Given the description of an element on the screen output the (x, y) to click on. 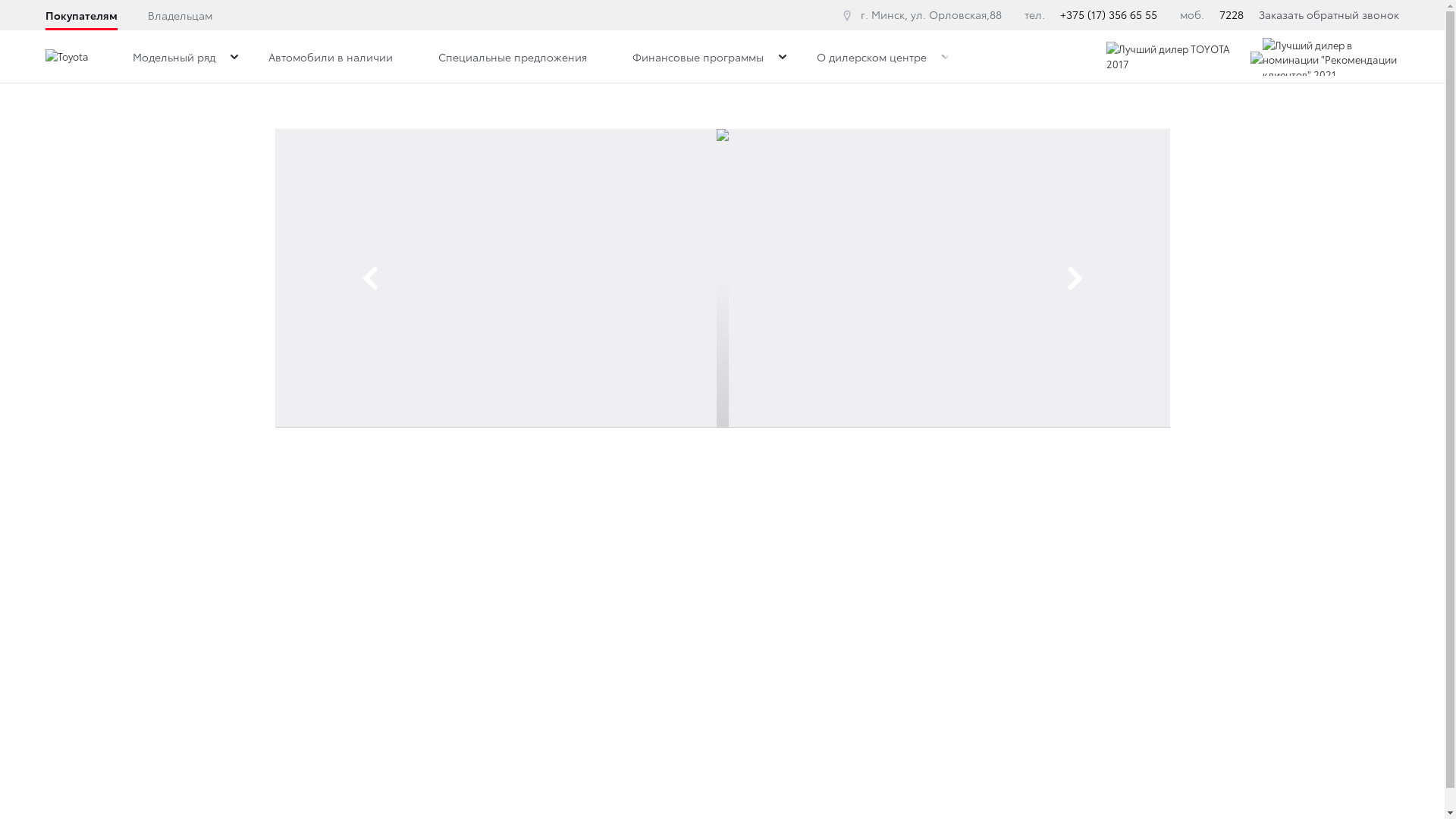
7228 Element type: text (1231, 13)
+375 (17) 356 65 55 Element type: text (1108, 13)
